Given the description of an element on the screen output the (x, y) to click on. 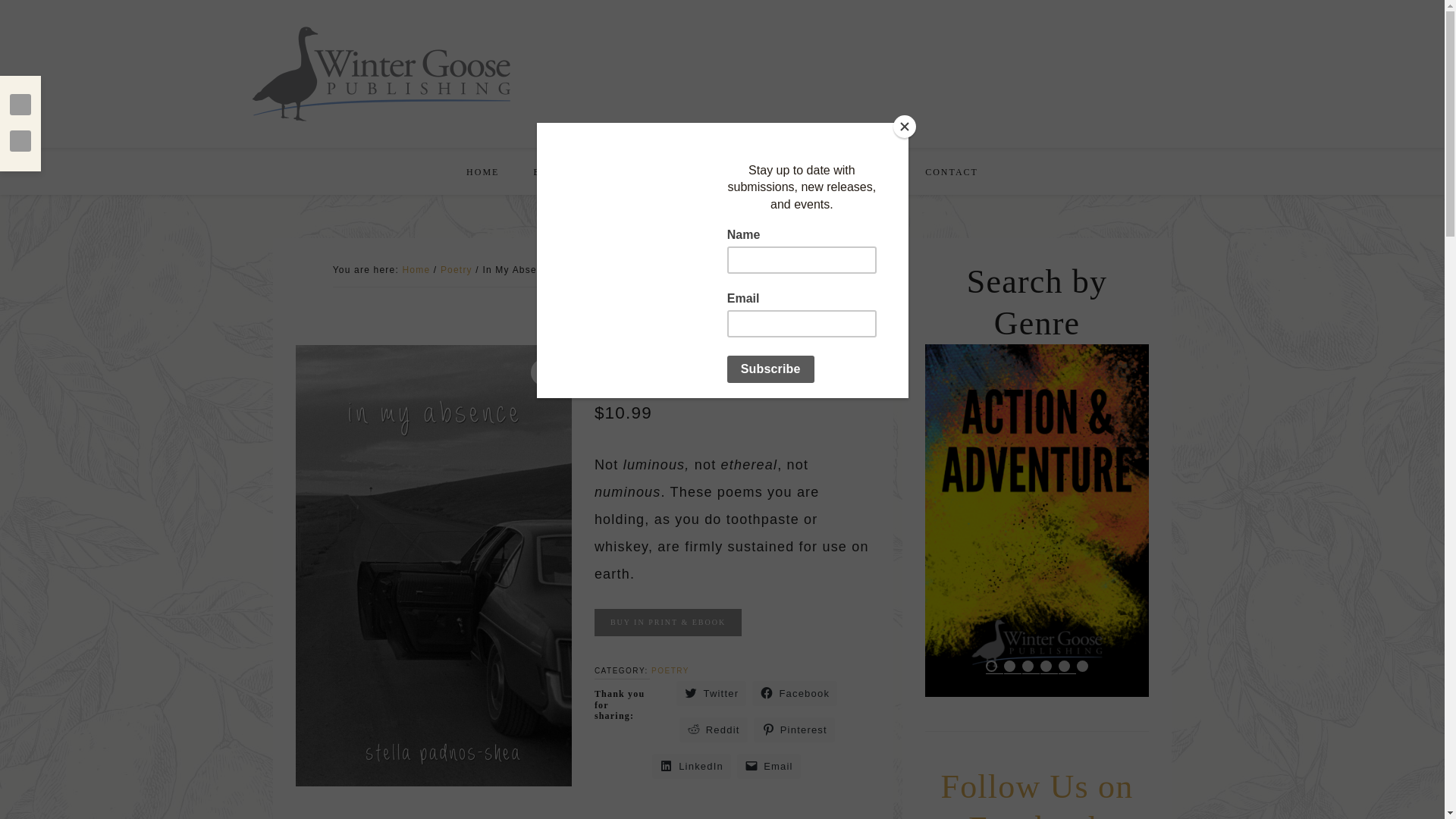
HOME (482, 170)
BOOKS (552, 170)
WINTER GOOSE PUBLISHING (380, 73)
Poetry (456, 269)
Click to share on Facebook (794, 692)
Click to share on Reddit (713, 729)
Click to share on Pinterest (794, 729)
Click to share on Twitter (711, 692)
AUTHORS (633, 170)
In My Absence (433, 565)
Click to email a link to a friend (768, 765)
Click to share on LinkedIn (691, 765)
